Given the description of an element on the screen output the (x, y) to click on. 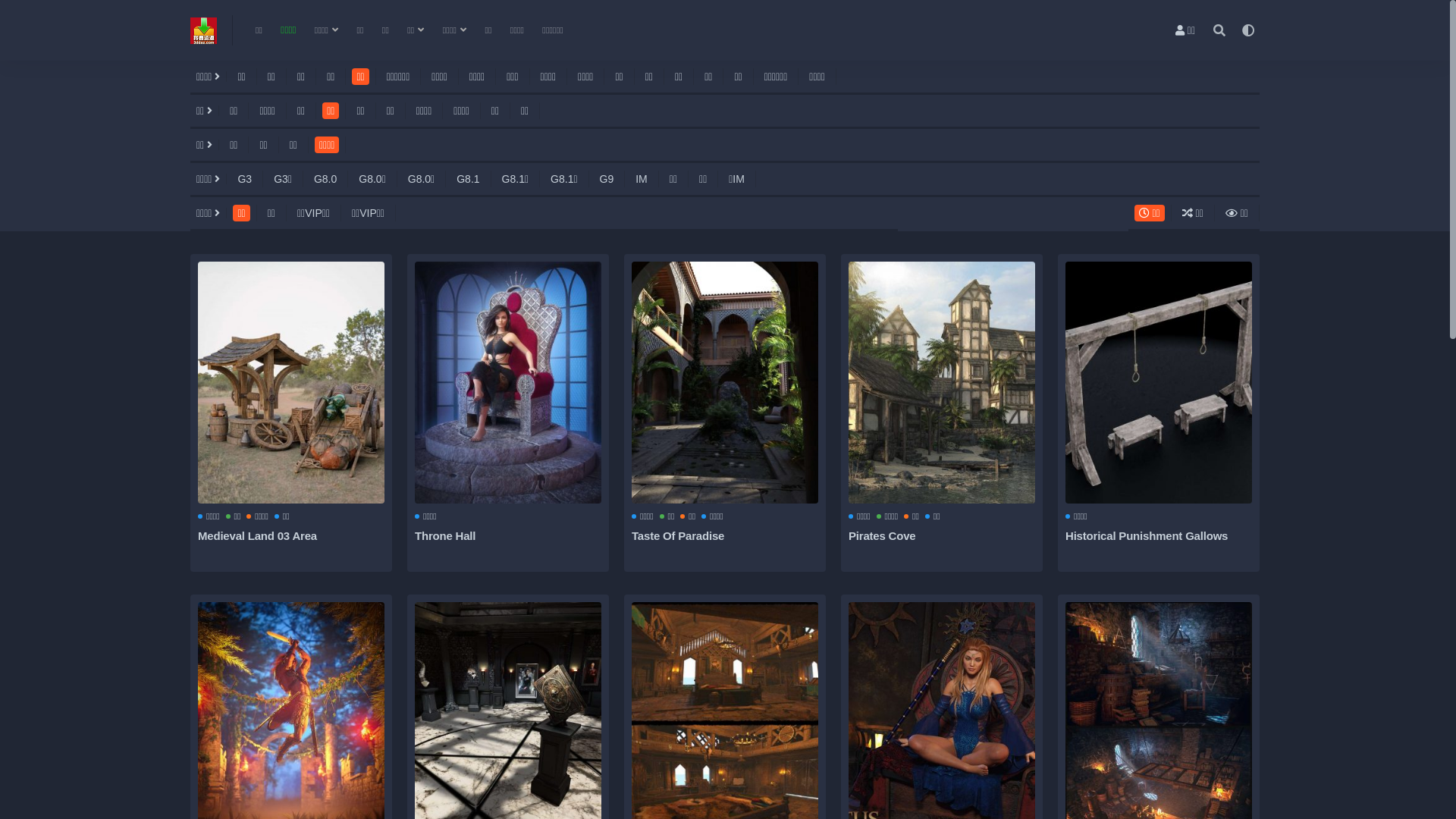
Medieval Land 03 Area Element type: text (256, 535)
G8.1 Element type: text (467, 178)
Taste Of Paradise Element type: hover (724, 382)
Taste Of Paradise Element type: text (677, 535)
Throne Hall Element type: text (444, 535)
G3 Element type: text (244, 178)
Historical Punishment Gallows Element type: hover (1158, 382)
Throne Hall Element type: hover (507, 382)
IM Element type: text (641, 178)
Medieval Land 03 Area Element type: hover (290, 382)
G9 Element type: text (606, 178)
Historical Punishment Gallows Element type: text (1146, 535)
Pirates Cove Element type: hover (941, 382)
Pirates Cove Element type: text (881, 535)
G8.0 Element type: text (325, 178)
